Given the description of an element on the screen output the (x, y) to click on. 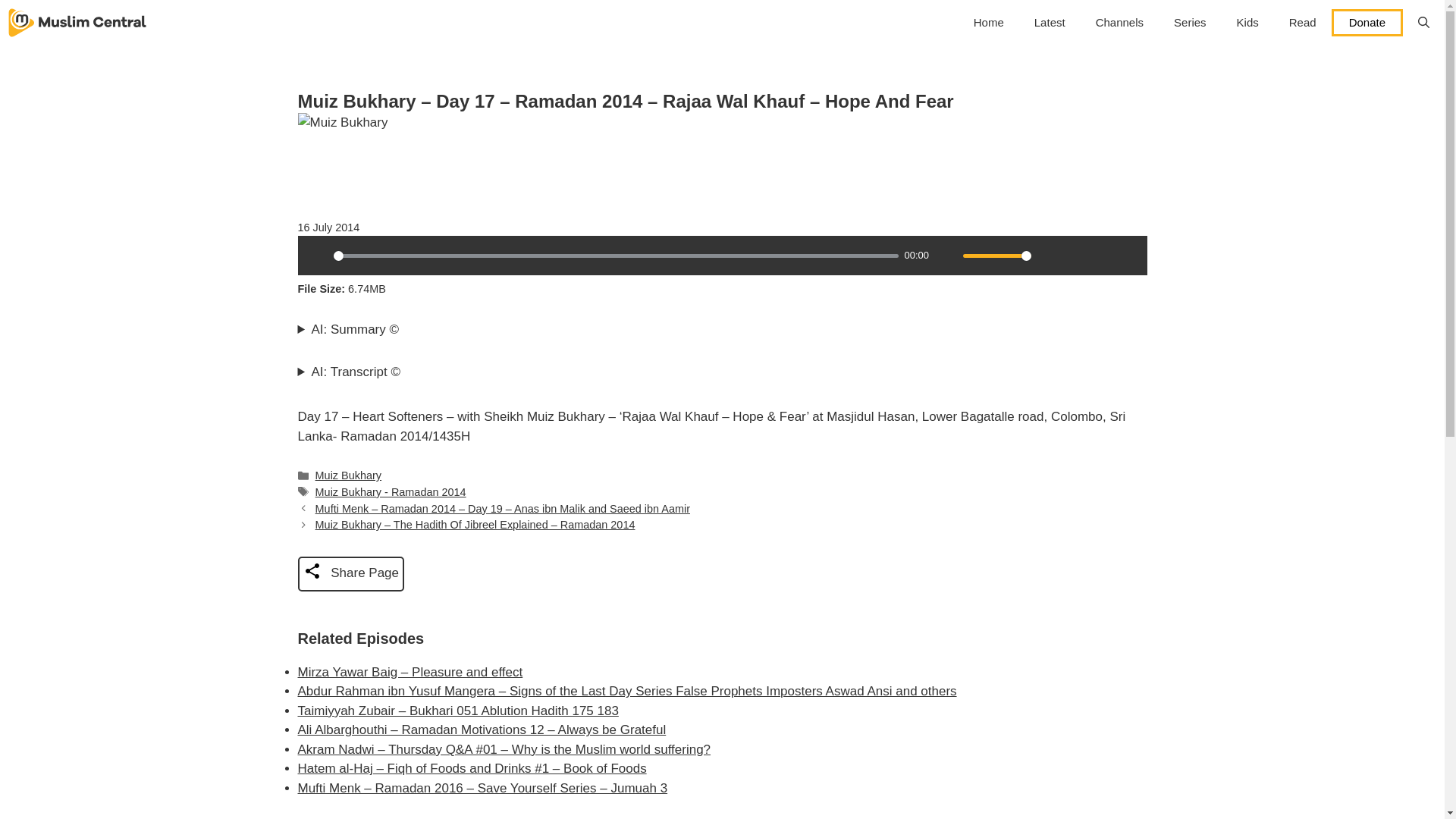
Latest (1049, 22)
0 (615, 255)
Series (1189, 22)
Download (1074, 255)
Kids (1247, 22)
Muslim Central (77, 22)
1 (996, 255)
Settings (1048, 255)
Donate (1367, 22)
Play (316, 255)
